Given the description of an element on the screen output the (x, y) to click on. 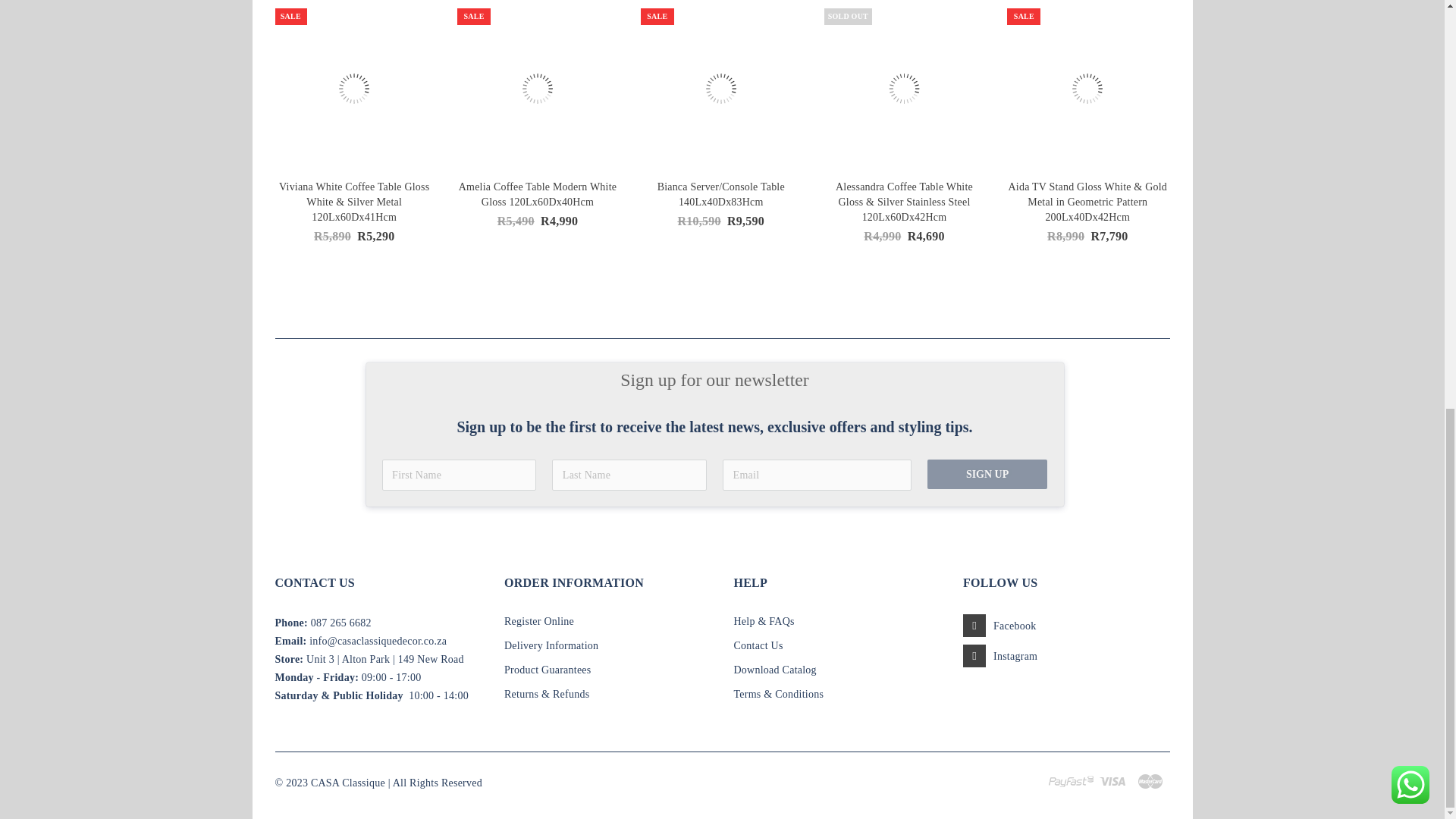
Email (377, 641)
